Given the description of an element on the screen output the (x, y) to click on. 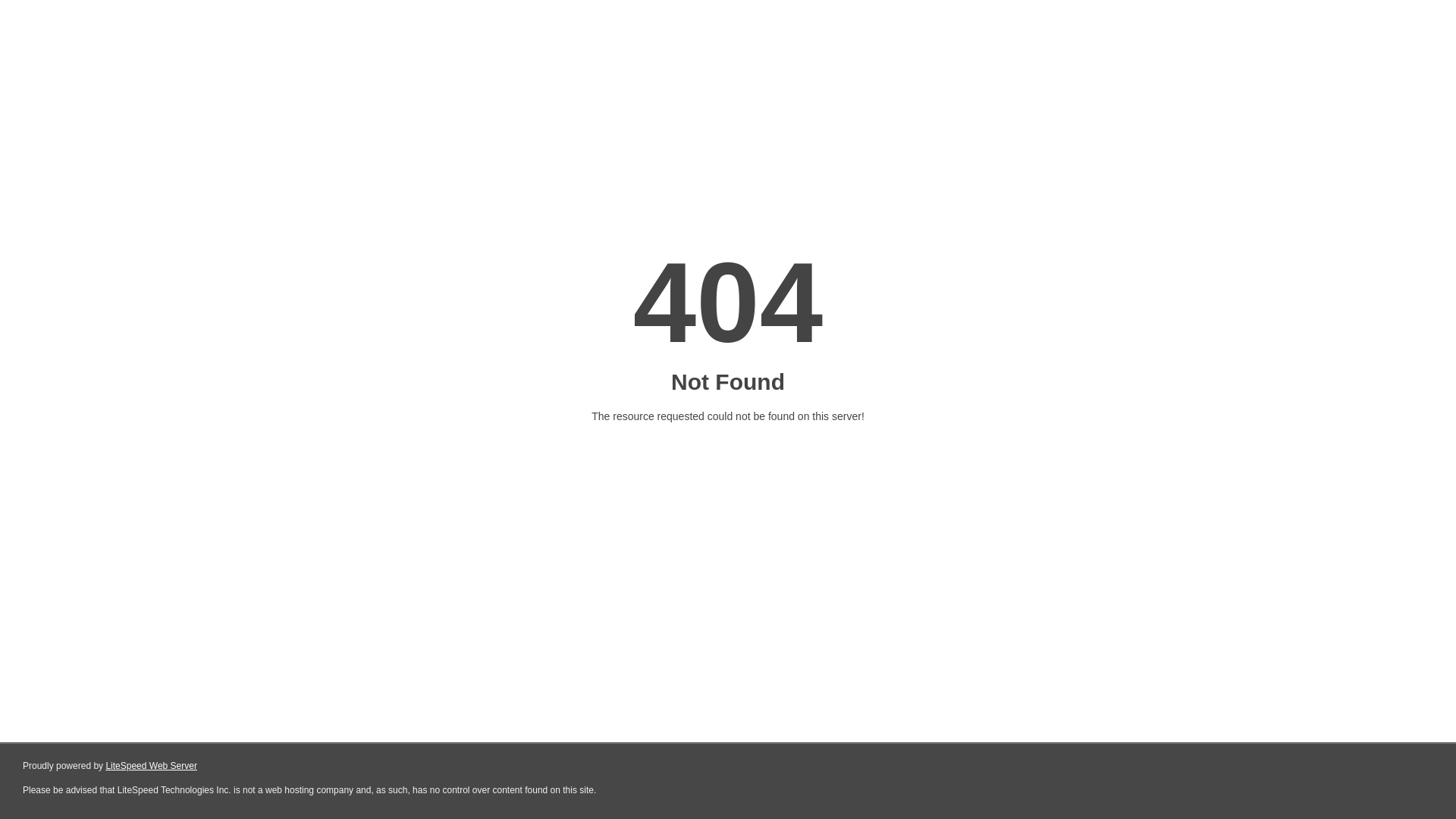
LiteSpeed Web Server Element type: text (151, 765)
